Given the description of an element on the screen output the (x, y) to click on. 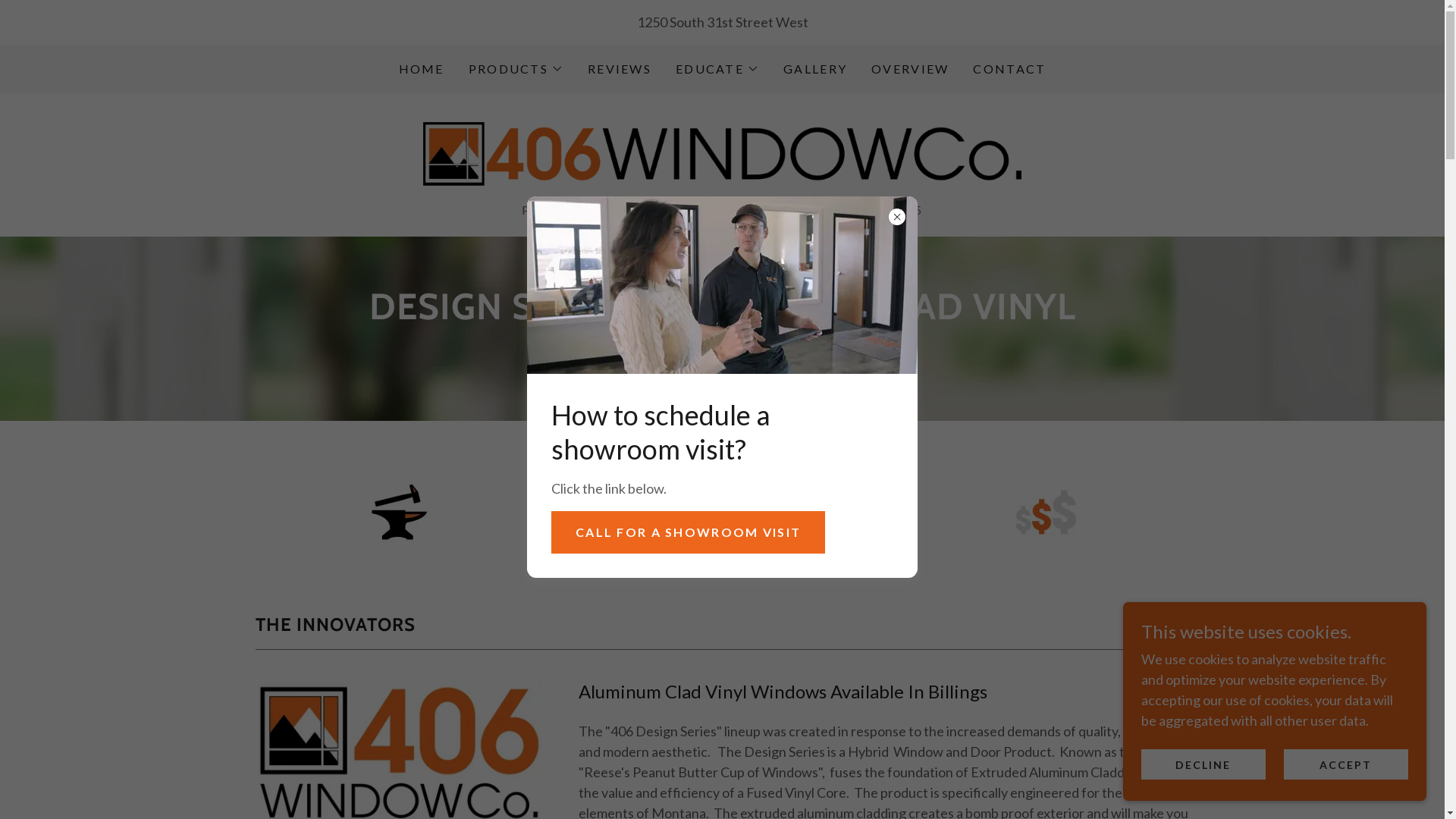
CONTACT Element type: text (1009, 68)
REVIEWS Element type: text (619, 68)
HOME Element type: text (421, 68)
ACCEPT Element type: text (1345, 764)
CALL FOR A SHOWROOM VISIT Element type: text (688, 532)
406 Window Co. Element type: hover (722, 152)
DECLINE Element type: text (1203, 764)
GALLERY Element type: text (814, 68)
OVERVIEW Element type: text (909, 68)
PRODUCTS Element type: text (515, 68)
EDUCATE Element type: text (717, 68)
